Given the description of an element on the screen output the (x, y) to click on. 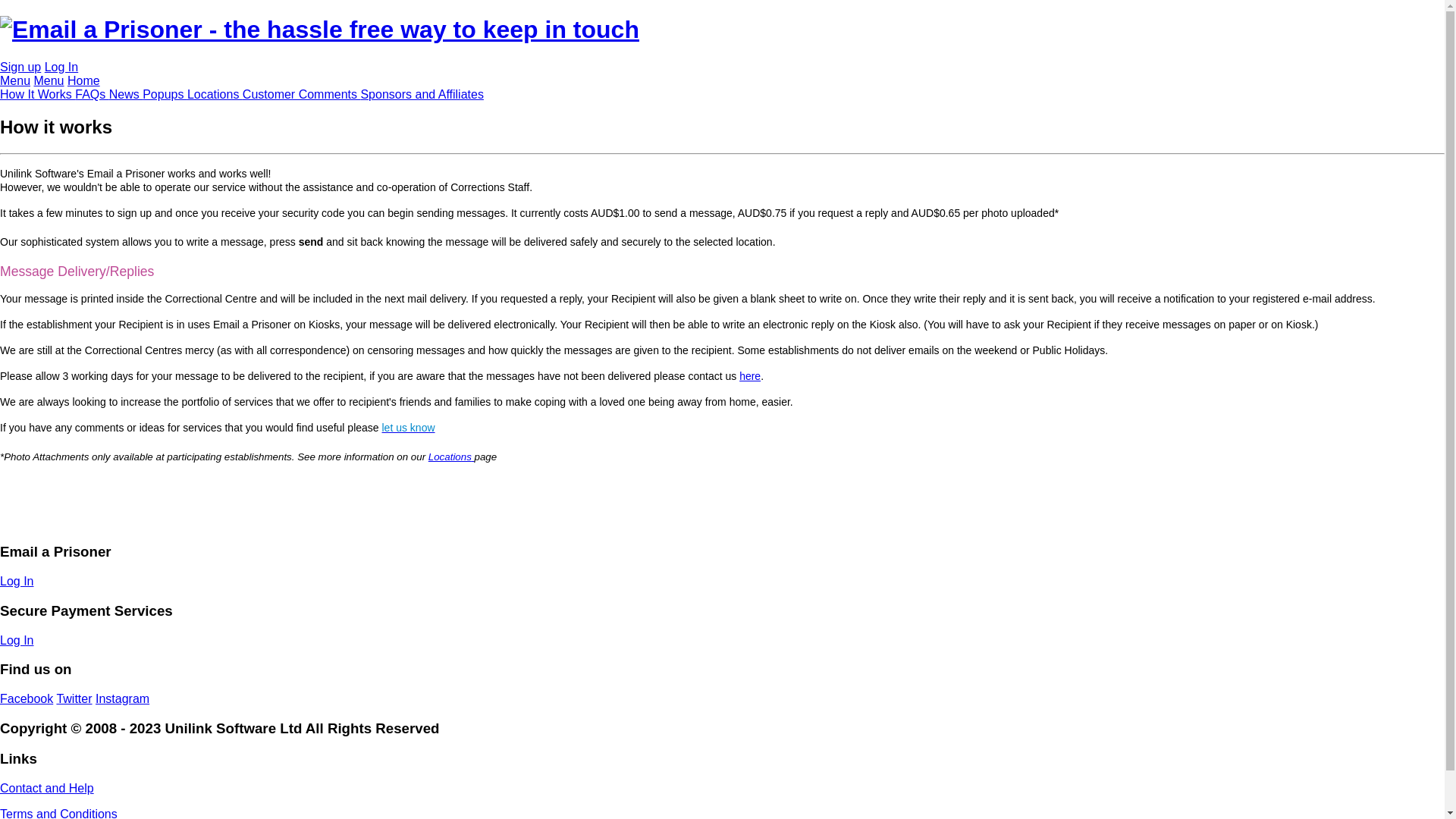
Instagram Element type: text (122, 698)
Sponsors and Affiliates Element type: text (421, 93)
Locations Element type: text (451, 455)
Locations Element type: text (214, 93)
Contact and Help Element type: text (47, 787)
News Element type: text (125, 93)
Menu Element type: text (15, 80)
Facebook Element type: text (26, 698)
Menu Element type: text (48, 80)
Log In Element type: text (16, 639)
FAQs Element type: text (91, 93)
Twitter Element type: text (73, 698)
let us know Element type: text (408, 427)
How It Works Element type: text (37, 93)
here Element type: text (749, 376)
Log In Element type: text (16, 580)
Customer Comments Element type: text (301, 93)
Popups Element type: text (164, 93)
Home Element type: text (83, 80)
Sign up Element type: text (20, 66)
Log In Element type: text (61, 66)
